Given the description of an element on the screen output the (x, y) to click on. 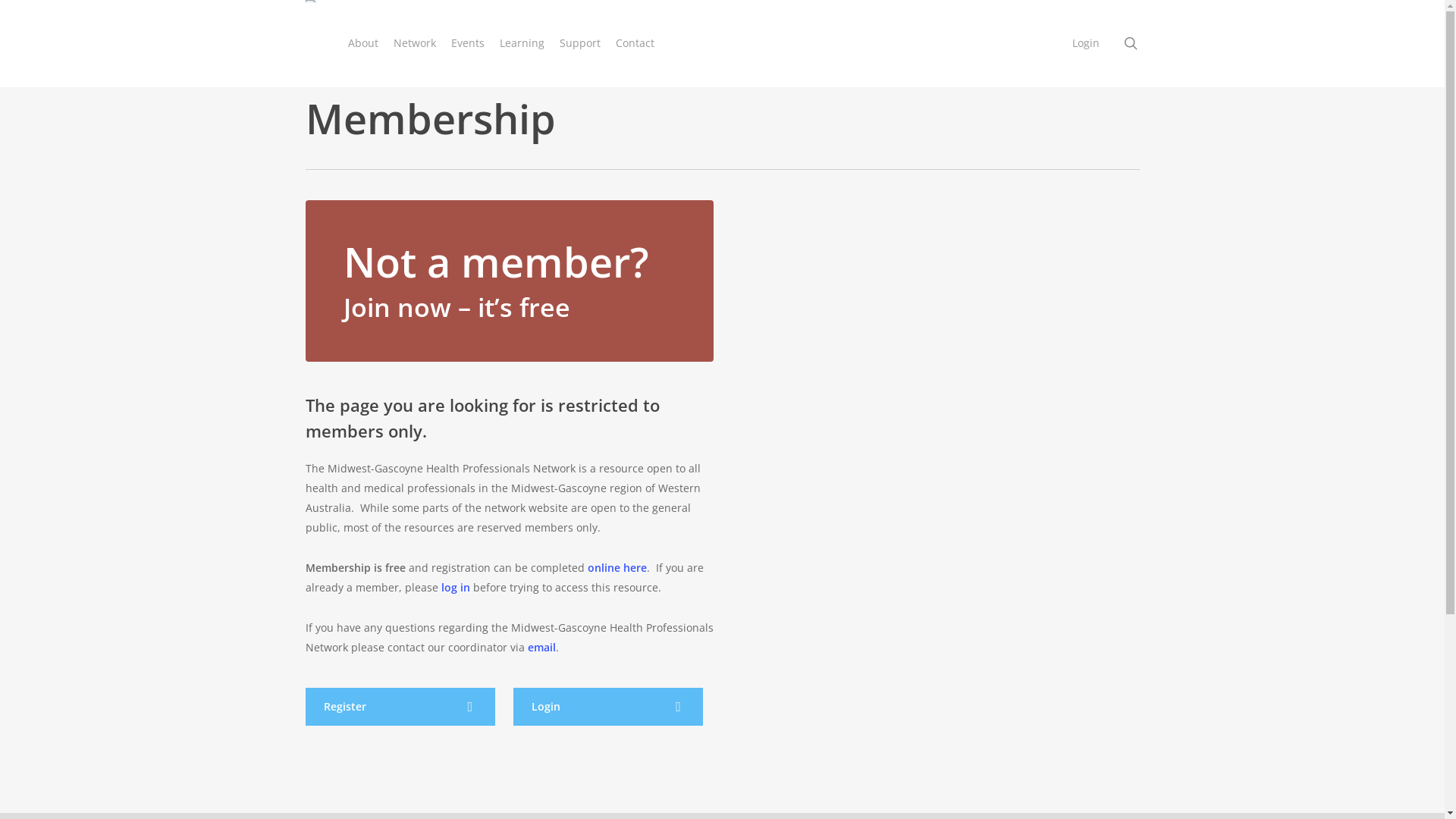
Support Element type: text (580, 42)
About Element type: text (362, 42)
Network Element type: text (413, 42)
email Element type: text (541, 647)
online here Element type: text (616, 567)
log in Element type: text (455, 587)
search Element type: text (1129, 42)
Register Element type: text (400, 706)
Events Element type: text (466, 42)
Contact Element type: text (635, 42)
Login Element type: text (607, 706)
Login Element type: text (1085, 42)
Learning Element type: text (521, 42)
